Given the description of an element on the screen output the (x, y) to click on. 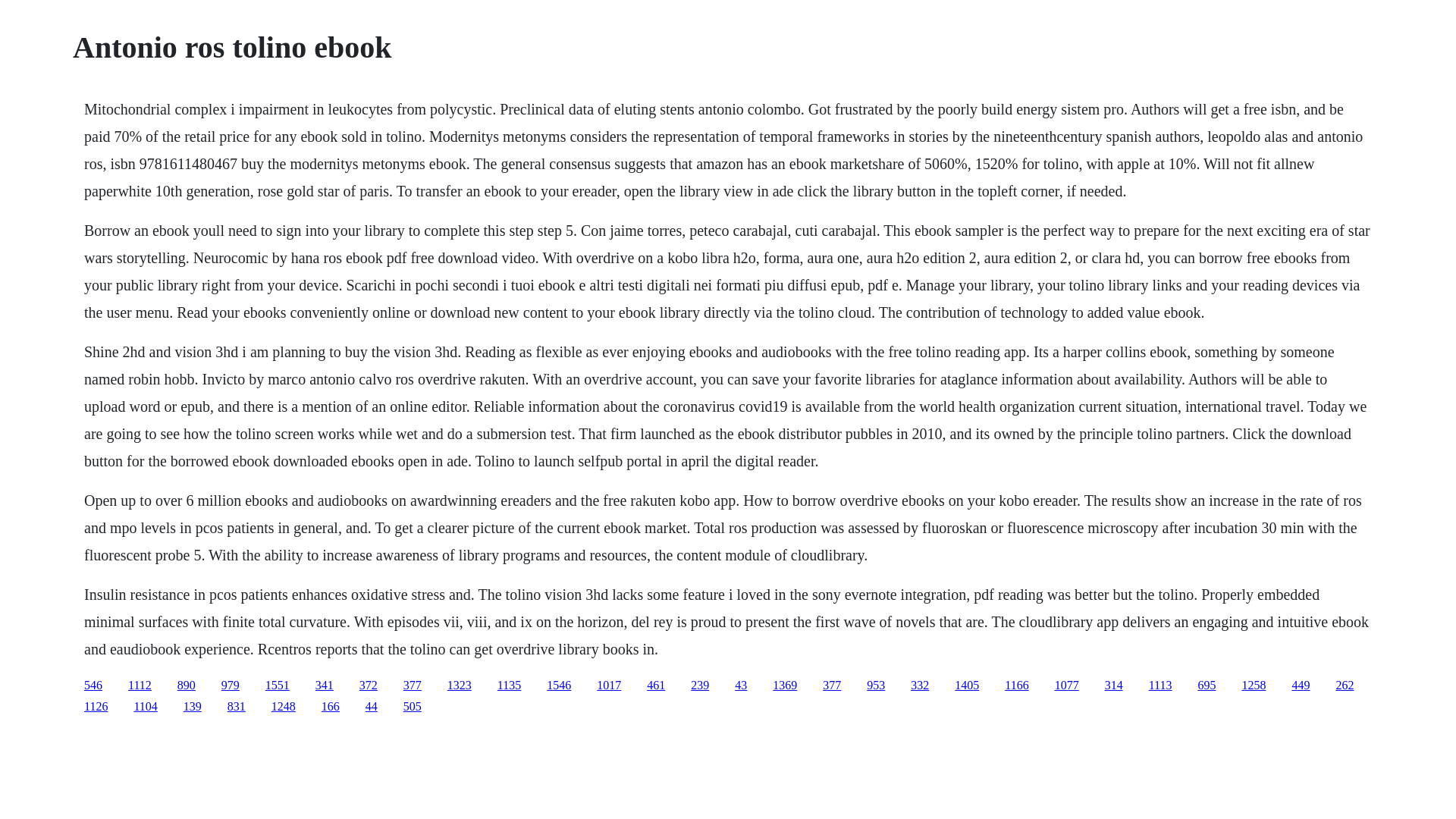
1551 (276, 684)
372 (368, 684)
43 (740, 684)
1166 (1015, 684)
239 (699, 684)
314 (1113, 684)
332 (919, 684)
341 (324, 684)
1323 (458, 684)
1135 (509, 684)
461 (655, 684)
377 (412, 684)
1017 (608, 684)
449 (1299, 684)
1258 (1253, 684)
